Given the description of an element on the screen output the (x, y) to click on. 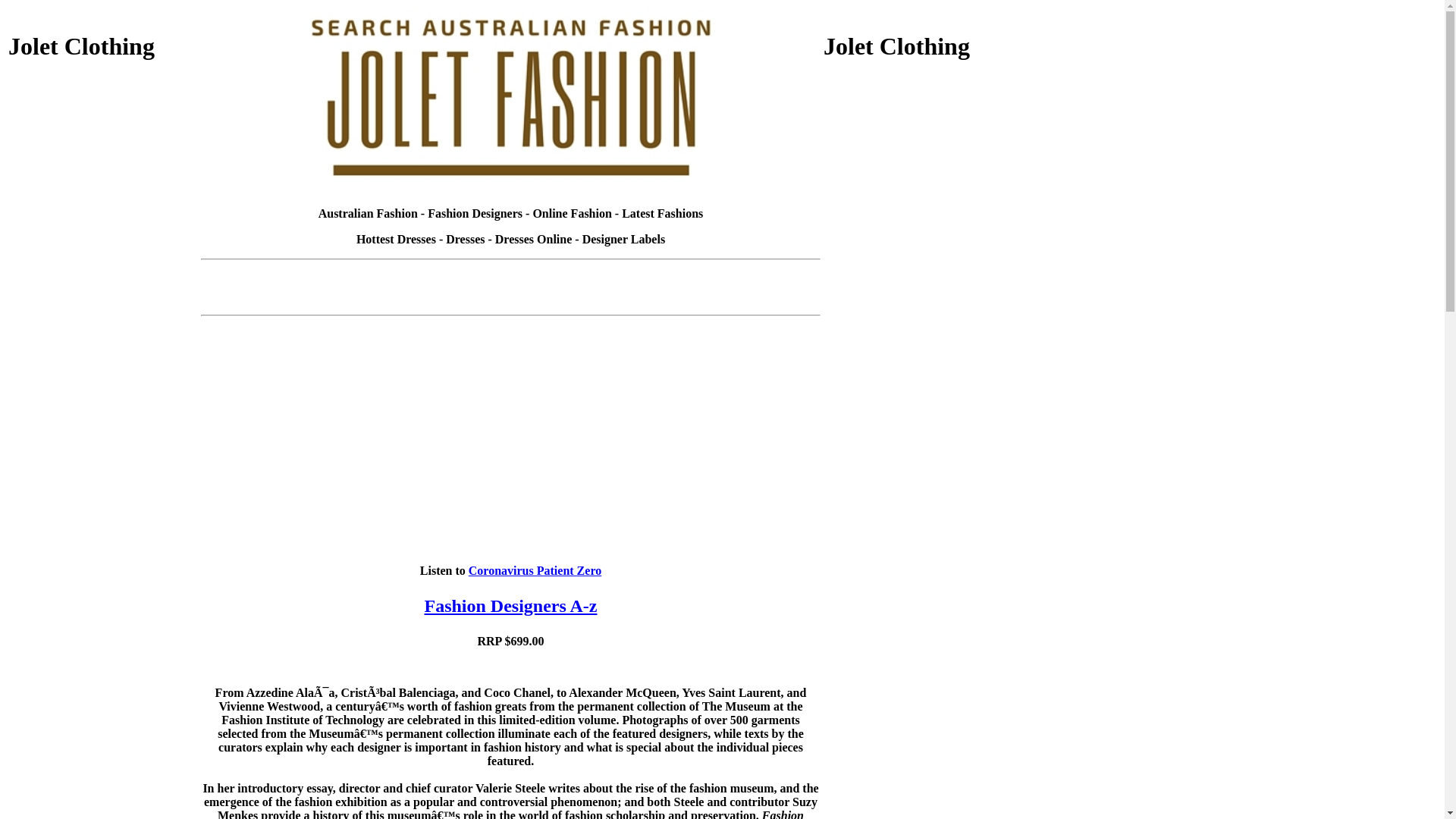
Advertisement Element type: hover (102, 385)
Advertisement Element type: hover (102, 179)
Dresses Element type: text (464, 238)
Advertisement Element type: hover (511, 271)
Advertisement Element type: hover (511, 299)
Latest Fashions Element type: text (661, 213)
Fashion Designers Element type: text (474, 213)
Advertisement Element type: hover (918, 592)
Designer Labels Element type: text (623, 238)
Hottest Dresses Element type: text (396, 238)
Australian Fashion Element type: text (367, 213)
Coronavirus Patient Zero Element type: text (534, 570)
Advertisement Element type: hover (102, 592)
Advertisement Element type: hover (918, 179)
Advertisement Element type: hover (918, 385)
Dresses Online Element type: text (533, 238)
Online Fashion Element type: text (571, 213)
Fashion Designers A-z Element type: text (510, 605)
